Given the description of an element on the screen output the (x, y) to click on. 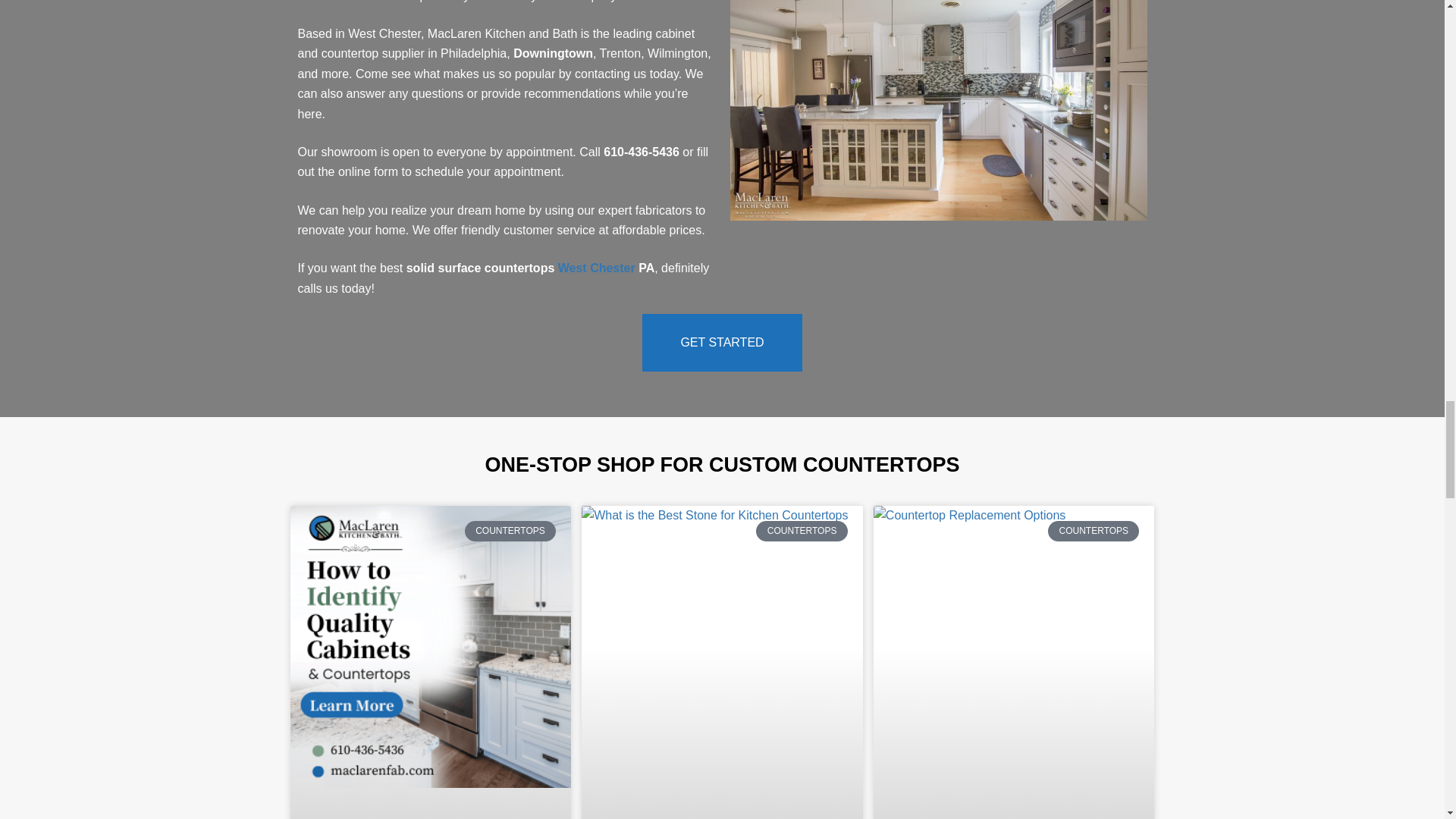
Solid Surface Countertops 16 (1014, 646)
Solid Surface Countertops 13 (938, 110)
Solid Surface Countertops 14 (430, 646)
Solid Surface Countertops 15 (721, 646)
